Given the description of an element on the screen output the (x, y) to click on. 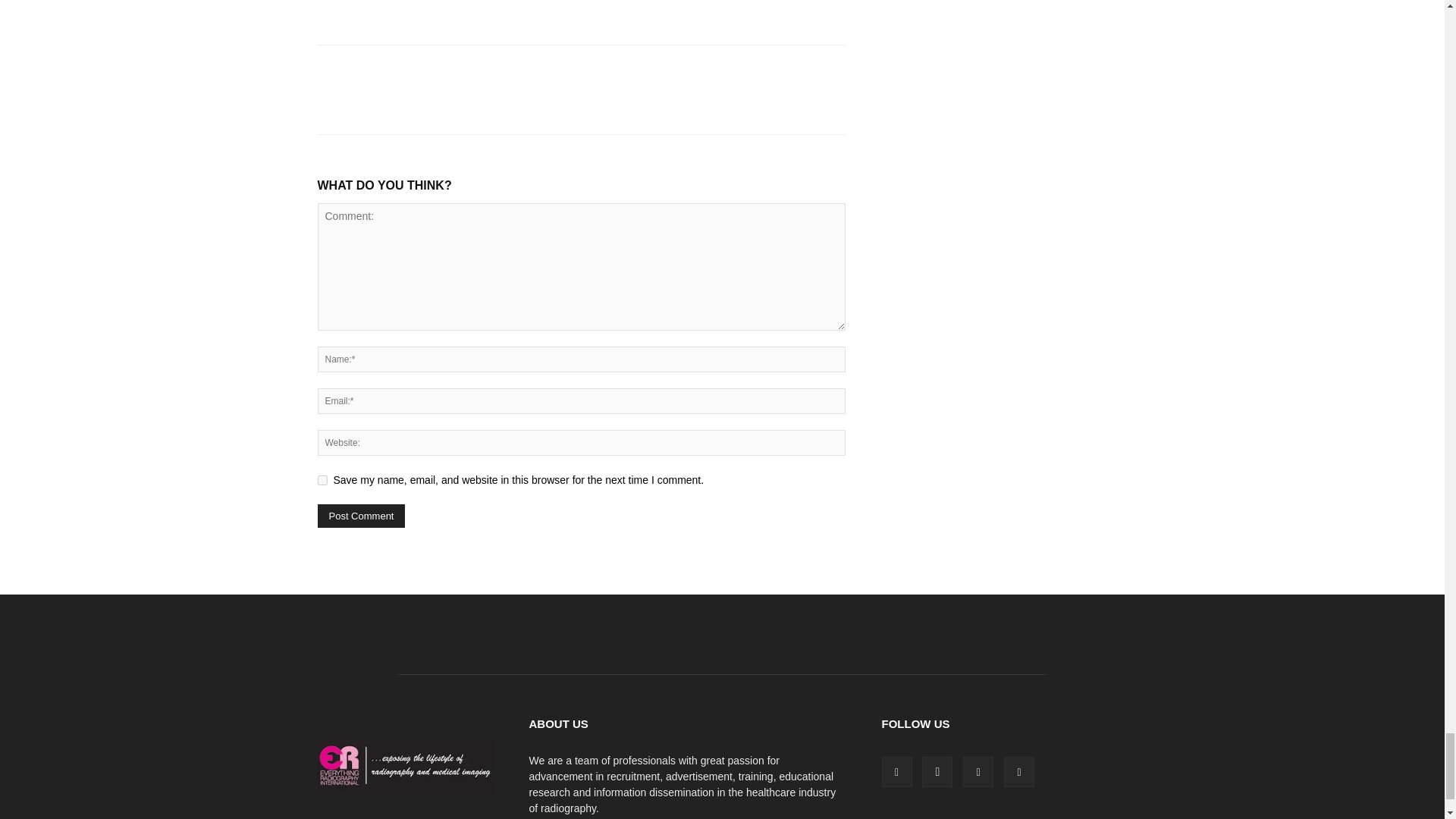
Post Comment (360, 515)
yes (321, 480)
